Given the description of an element on the screen output the (x, y) to click on. 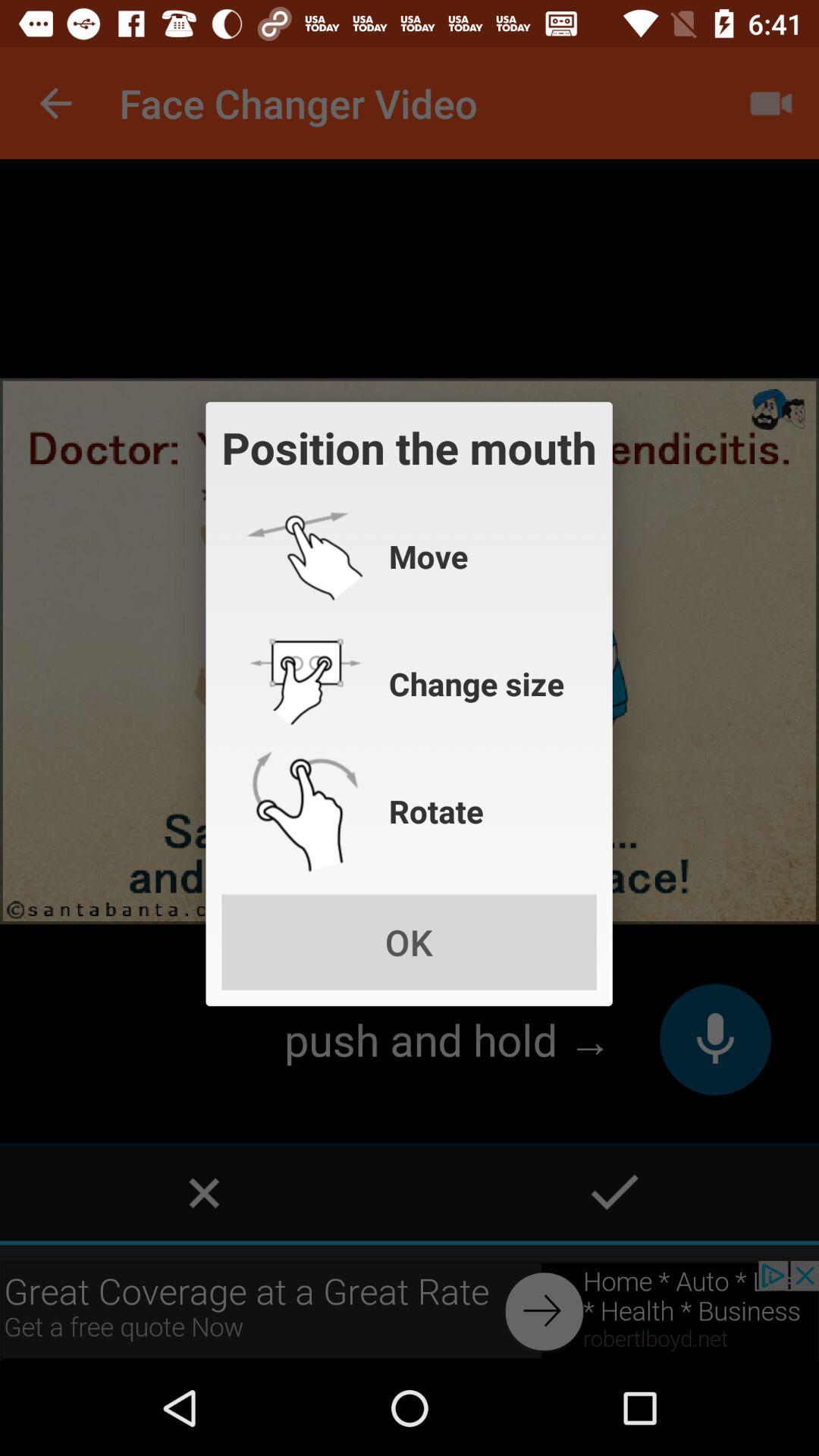
jump until the ok icon (408, 942)
